Given the description of an element on the screen output the (x, y) to click on. 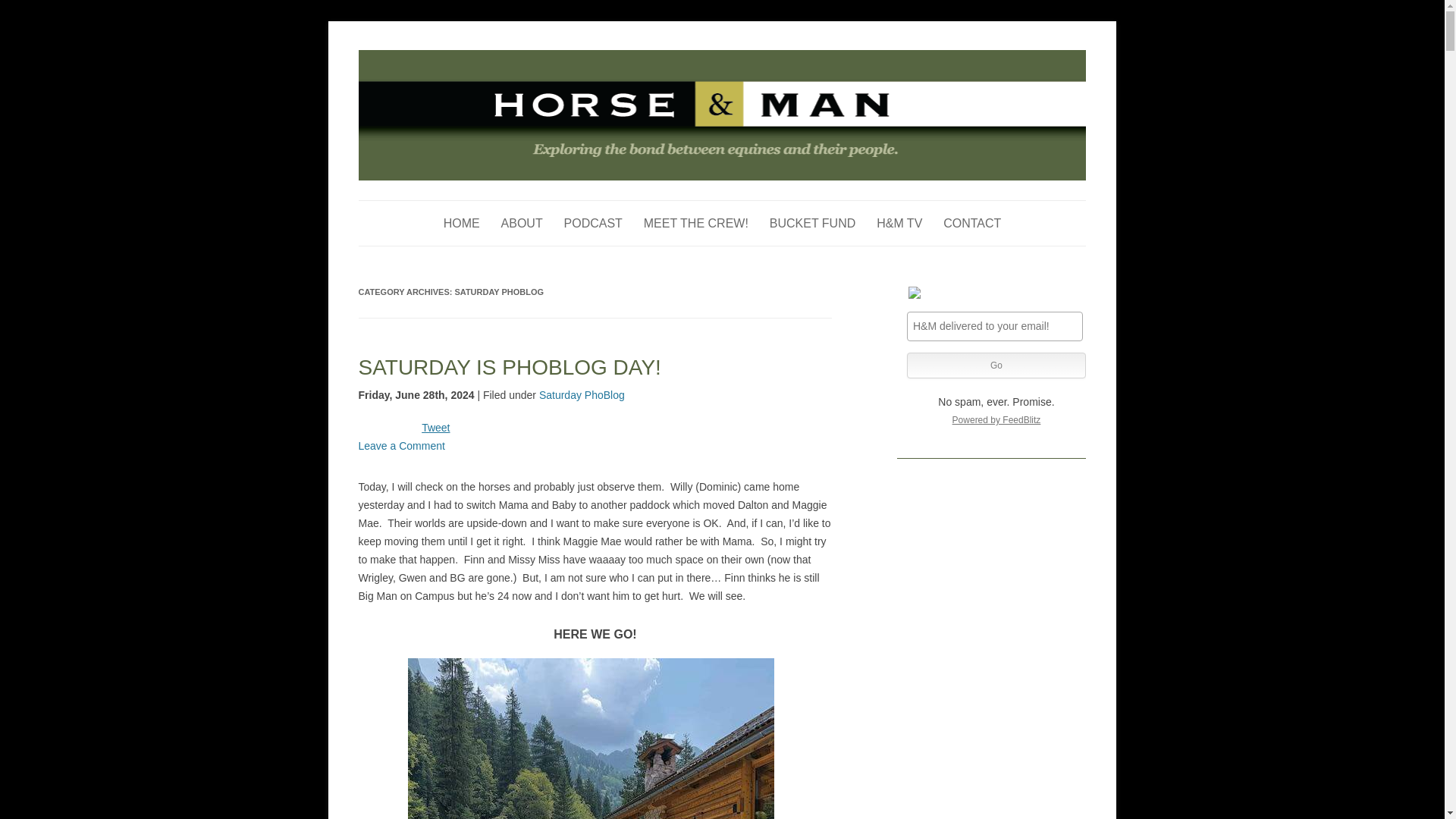
Go (996, 365)
CONTACT (972, 222)
Meet the Horse and Man Crew (695, 222)
Tweet (435, 427)
SATURDAY IS PHOBLOG DAY! (509, 367)
BUCKET FUND (813, 222)
Horse and Man (428, 57)
ABOUT (521, 222)
Skip to content (757, 204)
Skip to content (757, 204)
